Given the description of an element on the screen output the (x, y) to click on. 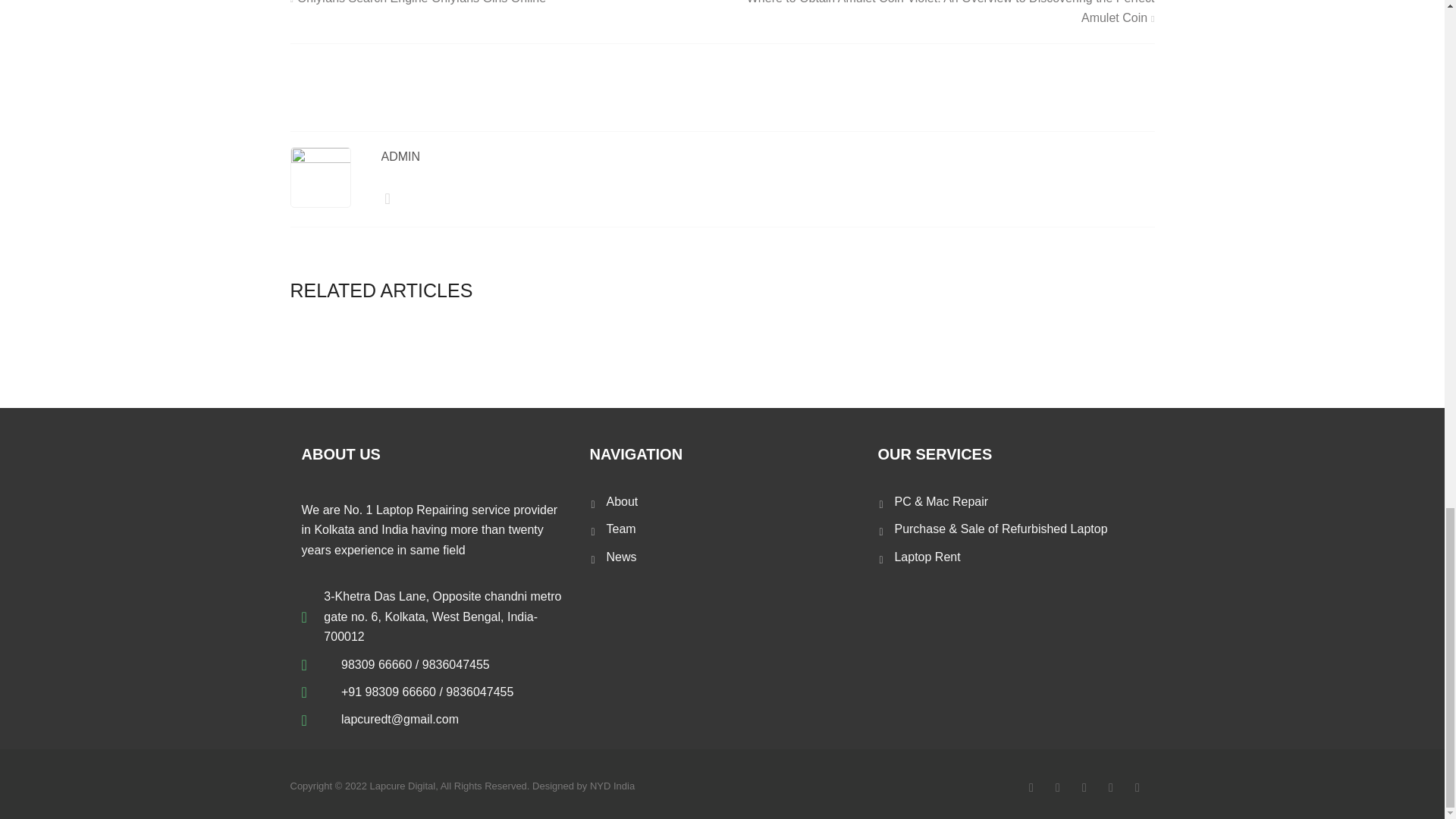
Twitter (1057, 787)
Facebook (1031, 787)
